Given the description of an element on the screen output the (x, y) to click on. 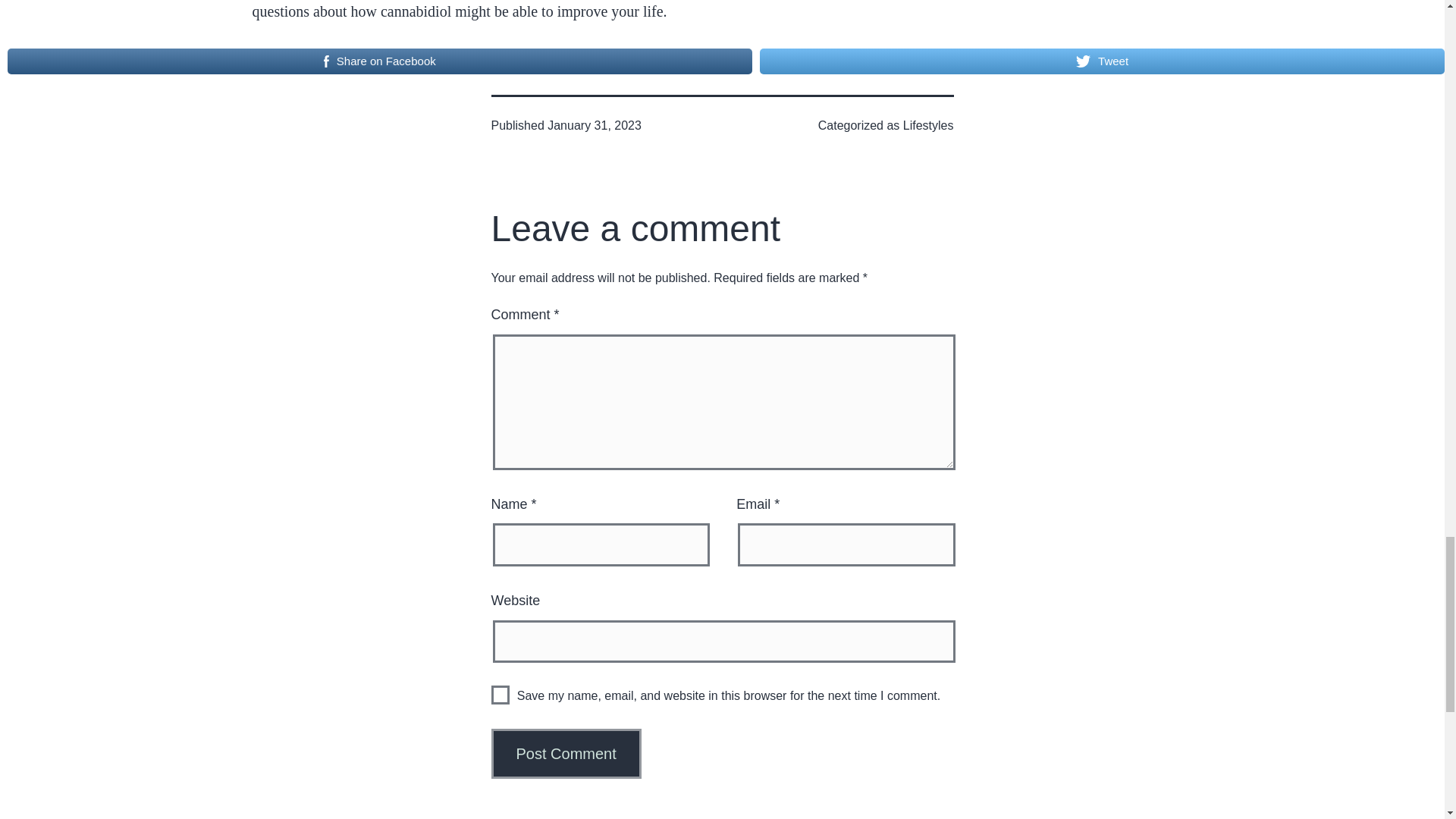
Post Comment (567, 753)
yes (500, 694)
Share on Facebook (379, 61)
Post Comment (567, 753)
Lifestyles (927, 124)
